Given the description of an element on the screen output the (x, y) to click on. 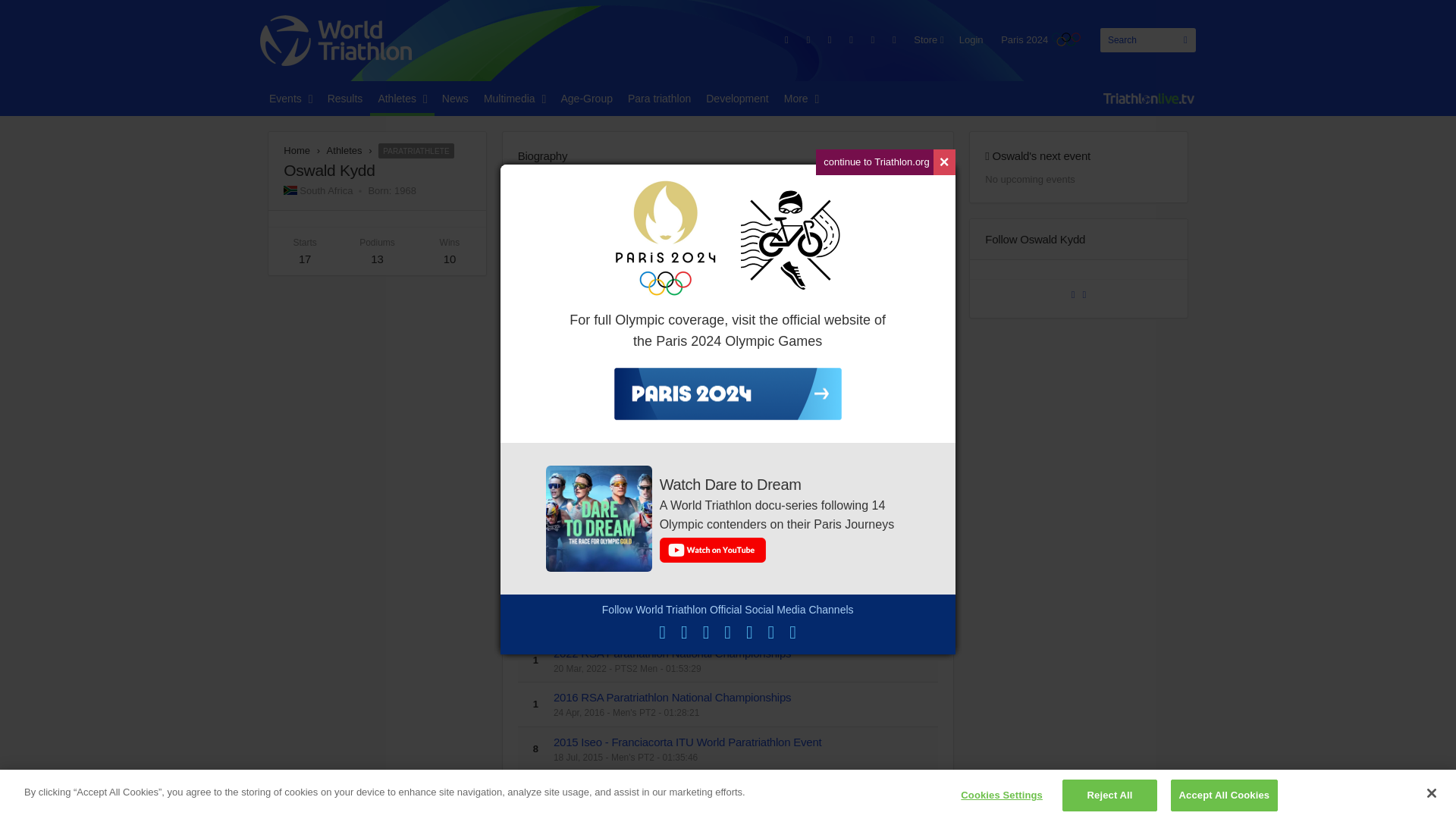
Results (345, 98)
Events (291, 98)
South Africa flag (290, 190)
Store (927, 39)
Paris 2024 (1040, 39)
Login (971, 39)
Athletes (401, 98)
World Triathlon (336, 40)
